Given the description of an element on the screen output the (x, y) to click on. 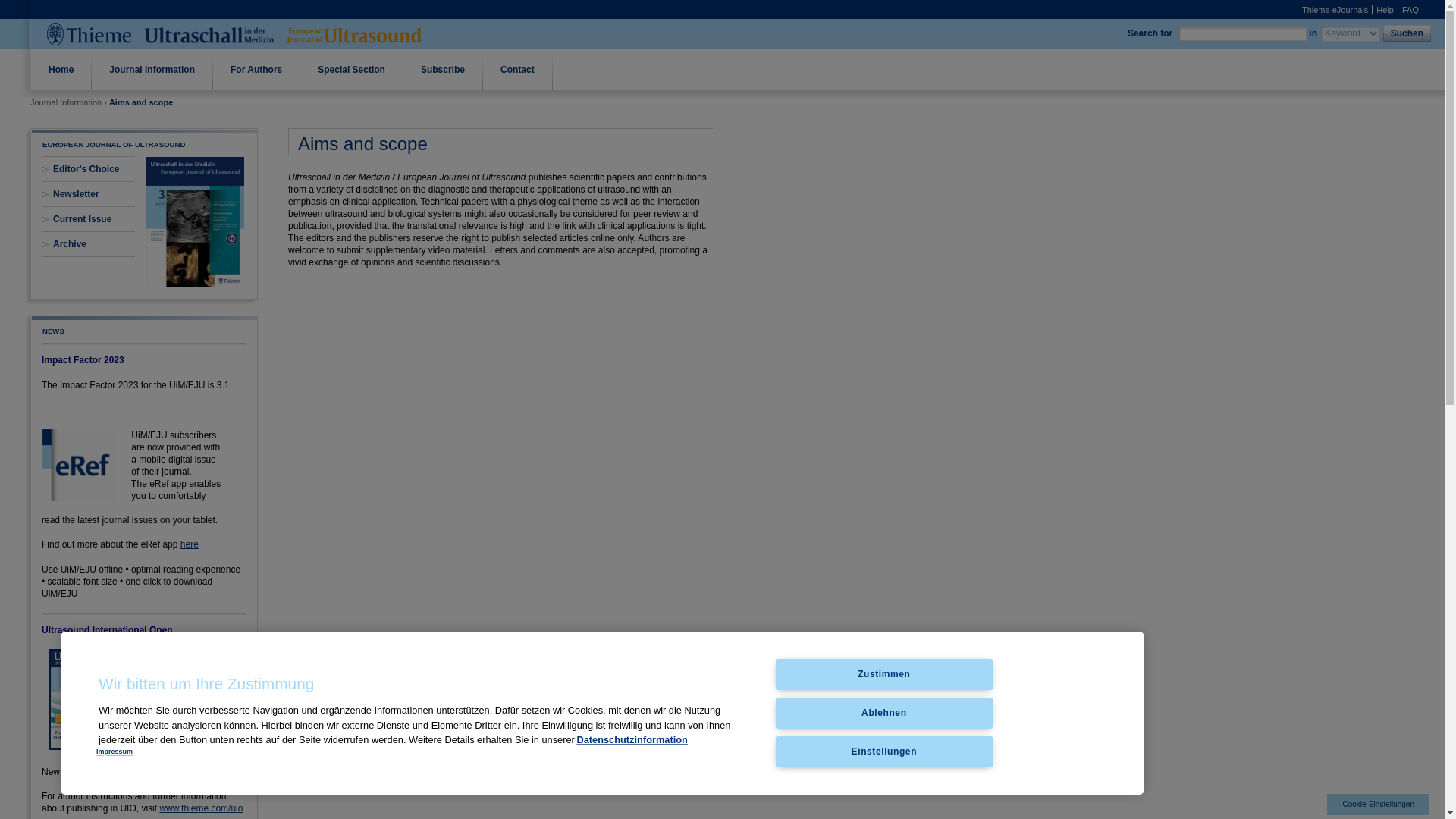
Subscribe (442, 69)
Help (1384, 9)
Home (61, 69)
Newsletter (75, 194)
Suchen (1408, 33)
FAQ (1410, 9)
Special Section (351, 69)
Journal Information (152, 69)
here (189, 543)
Thieme eJournals (1334, 9)
For Authors (256, 69)
Current Issue (82, 218)
Contact (517, 69)
Archive (68, 244)
Editor's Choice (85, 168)
